Given the description of an element on the screen output the (x, y) to click on. 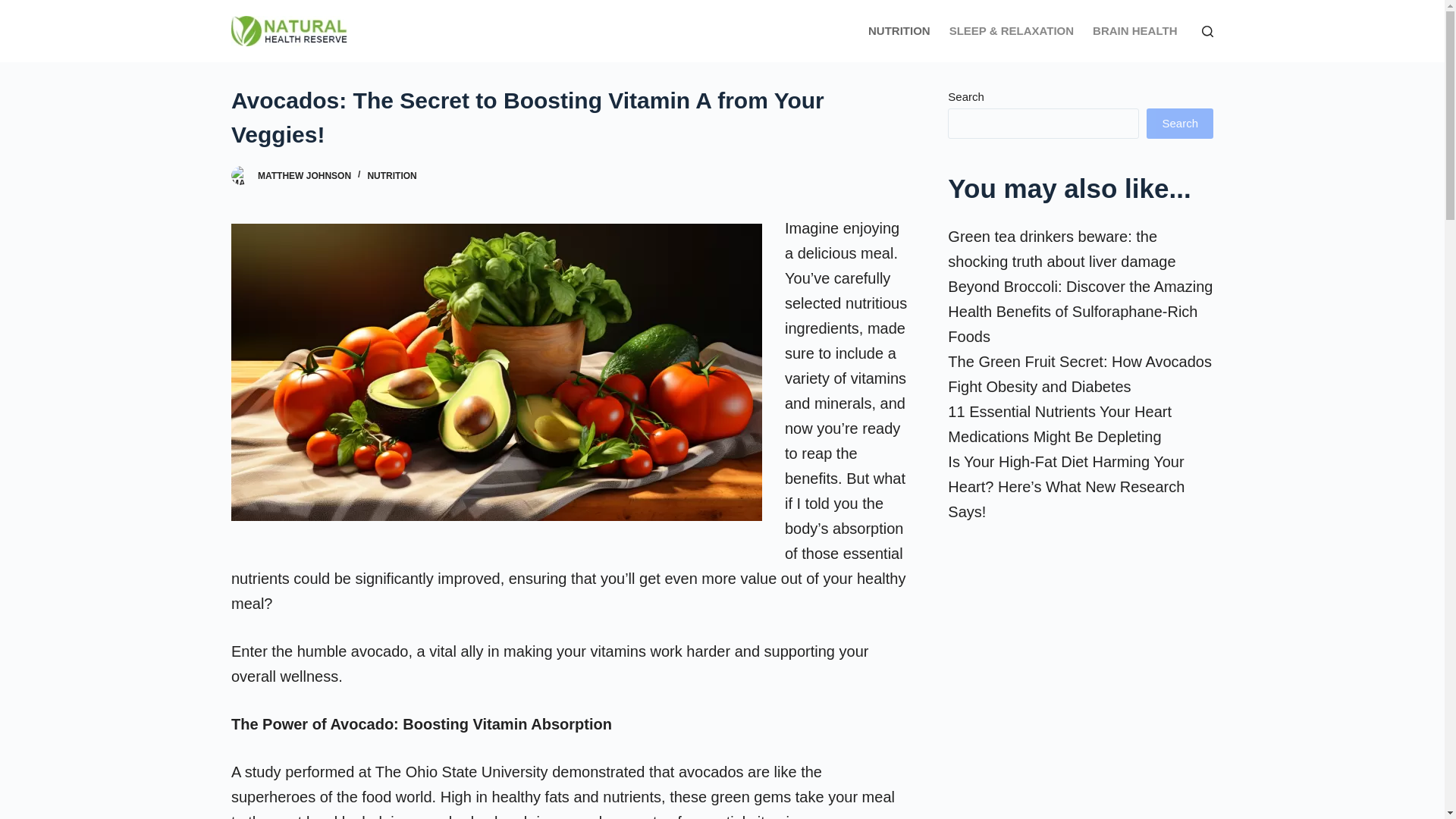
Posts by Matthew Johnson (303, 175)
NUTRITION (899, 31)
Skip to content (15, 7)
MATTHEW JOHNSON (303, 175)
NUTRITION (391, 175)
BRAIN HEALTH (1134, 31)
